Given the description of an element on the screen output the (x, y) to click on. 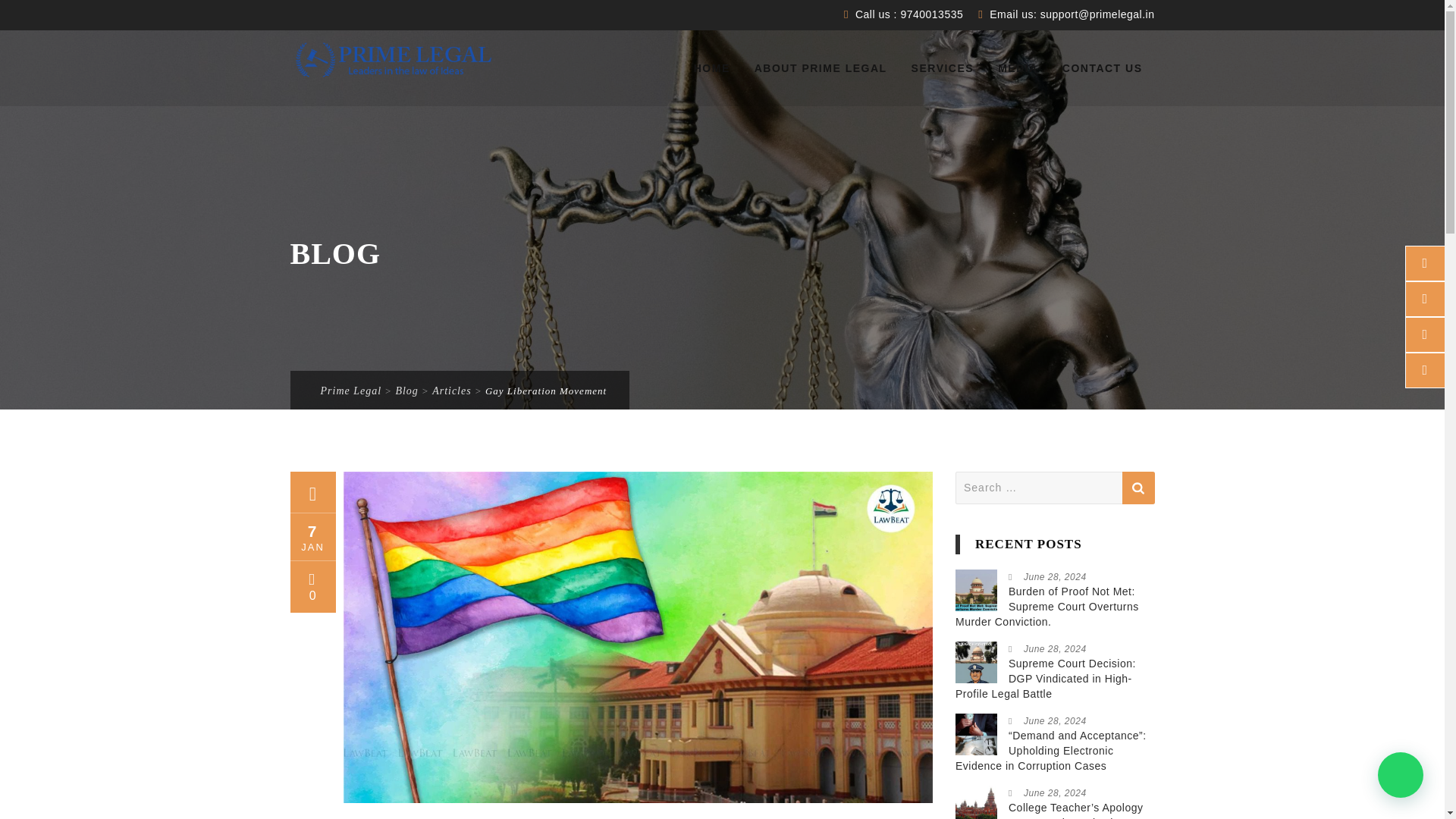
Search (1138, 487)
ABOUT PRIME LEGAL (820, 68)
9740013535 (929, 14)
Search (1138, 487)
Articles (451, 390)
CONTACT US (1102, 68)
Search (1138, 487)
Prime Legal (393, 60)
Blog (405, 390)
Prime Legal (350, 390)
